Given the description of an element on the screen output the (x, y) to click on. 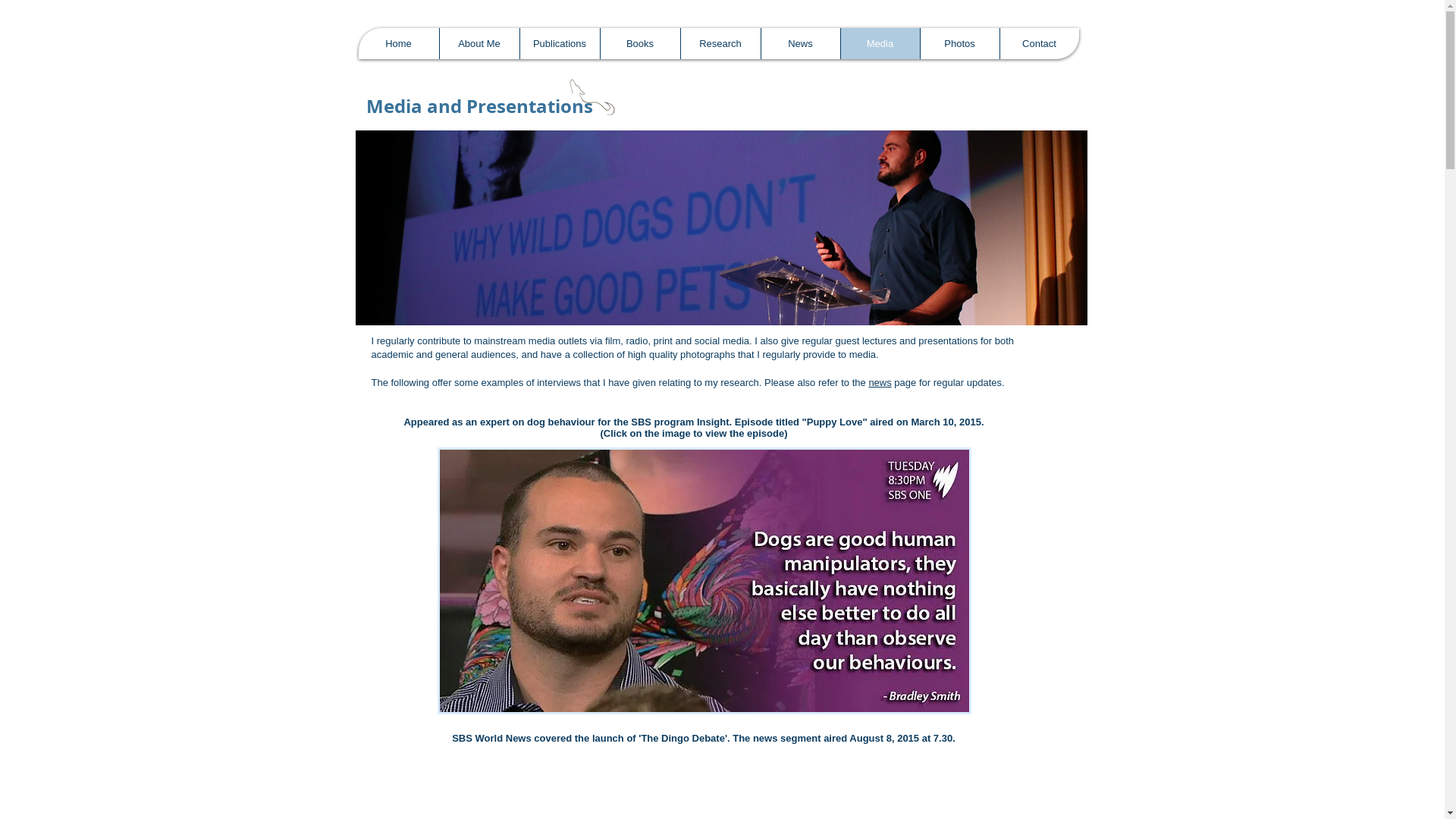
news Element type: text (879, 382)
Media Element type: text (879, 43)
Books Element type: text (639, 43)
Contact Element type: text (1039, 43)
Photos Element type: text (958, 43)
Home Element type: text (397, 43)
About Me Element type: text (478, 43)
News Element type: text (799, 43)
Research Element type: text (719, 43)
Publications Element type: text (558, 43)
